Given the description of an element on the screen output the (x, y) to click on. 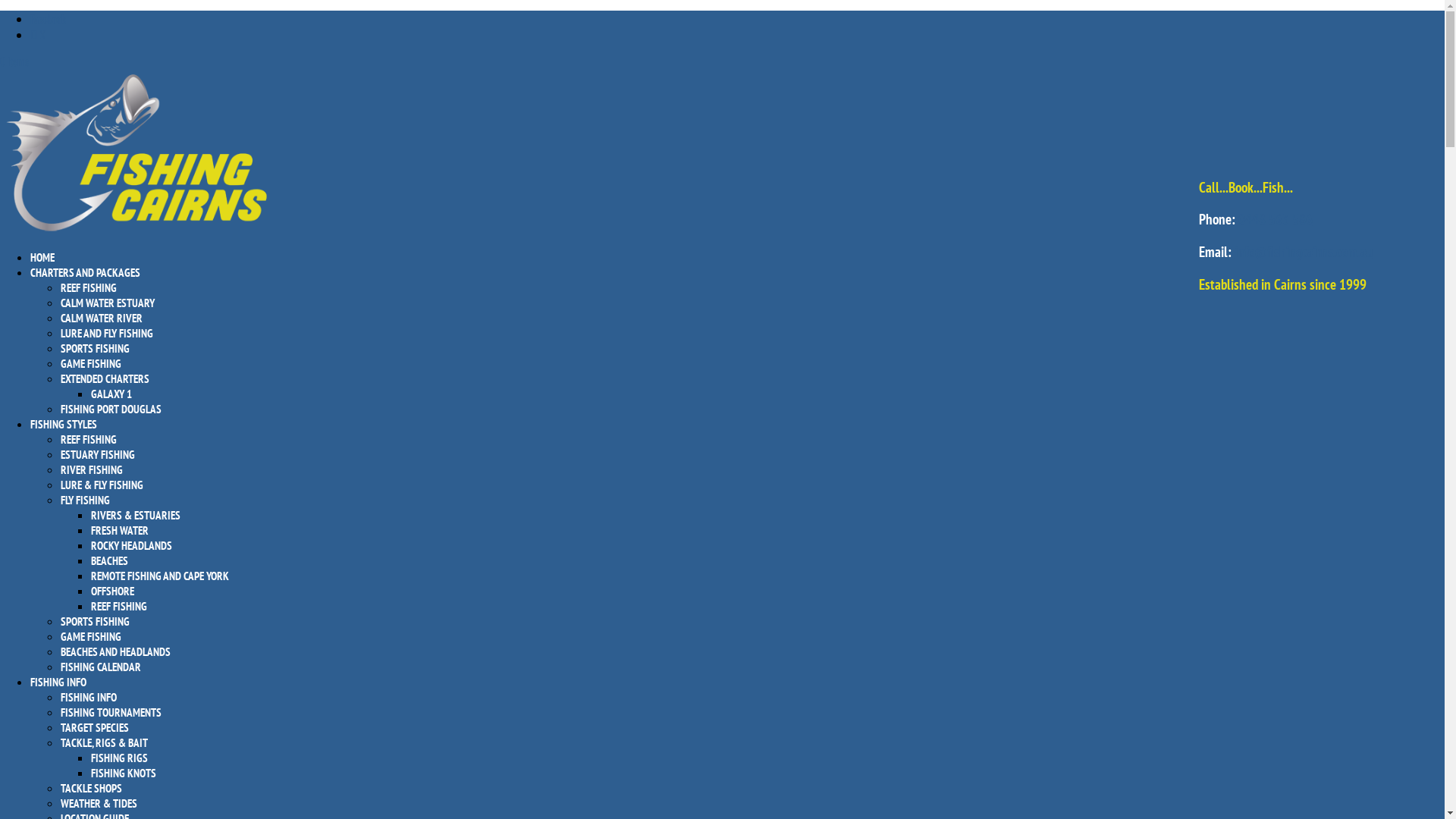
SPORTS FISHING Element type: text (94, 621)
REEF FISHING Element type: text (88, 287)
RIVER FISHING Element type: text (91, 469)
GALAXY 1 Element type: text (111, 393)
TARGET SPECIES Element type: text (94, 727)
FISHING CALENDAR Element type: text (100, 666)
REEF FISHING Element type: text (88, 439)
0448 563 586 Element type: text (1275, 219)
BEACHES AND HEADLANDS Element type: text (115, 651)
CALM WATER RIVER Element type: text (101, 317)
OFFSHORE Element type: text (112, 590)
FISHING TOURNAMENTS Element type: text (110, 712)
FISHING RIGS Element type: text (119, 757)
SPORTS FISHING Element type: text (94, 348)
FRESH WATER Element type: text (119, 530)
0 Items Element type: text (14, 61)
FISHING KNOTS Element type: text (123, 772)
Facebook Element type: text (47, 18)
ROCKY HEADLANDS Element type: text (131, 545)
EXTENDED CHARTERS Element type: text (104, 378)
FISHING INFO Element type: text (88, 697)
LURE AND FLY FISHING Element type: text (106, 333)
CALM WATER ESTUARY Element type: text (107, 302)
info@fishingcairns.com.au Element type: text (1303, 251)
LURE & FLY FISHING Element type: text (101, 484)
RIVERS & ESTUARIES Element type: text (135, 515)
REEF FISHING Element type: text (119, 606)
REMOTE FISHING AND CAPE YORK Element type: text (160, 575)
GAME FISHING Element type: text (90, 363)
CHARTERS AND PACKAGES Element type: text (85, 287)
FISHING INFO Element type: text (58, 696)
FISHING STYLES Element type: text (63, 439)
FLY FISHING Element type: text (84, 499)
HOME Element type: text (42, 272)
FISHING PORT DOUGLAS Element type: text (110, 408)
X Element type: text (37, 34)
ESTUARY FISHING Element type: text (97, 454)
WEATHER & TIDES Element type: text (98, 803)
BEACHES Element type: text (109, 560)
TACKLE, RIGS & BAIT Element type: text (103, 742)
TACKLE SHOPS Element type: text (91, 788)
GAME FISHING Element type: text (90, 636)
